Given the description of an element on the screen output the (x, y) to click on. 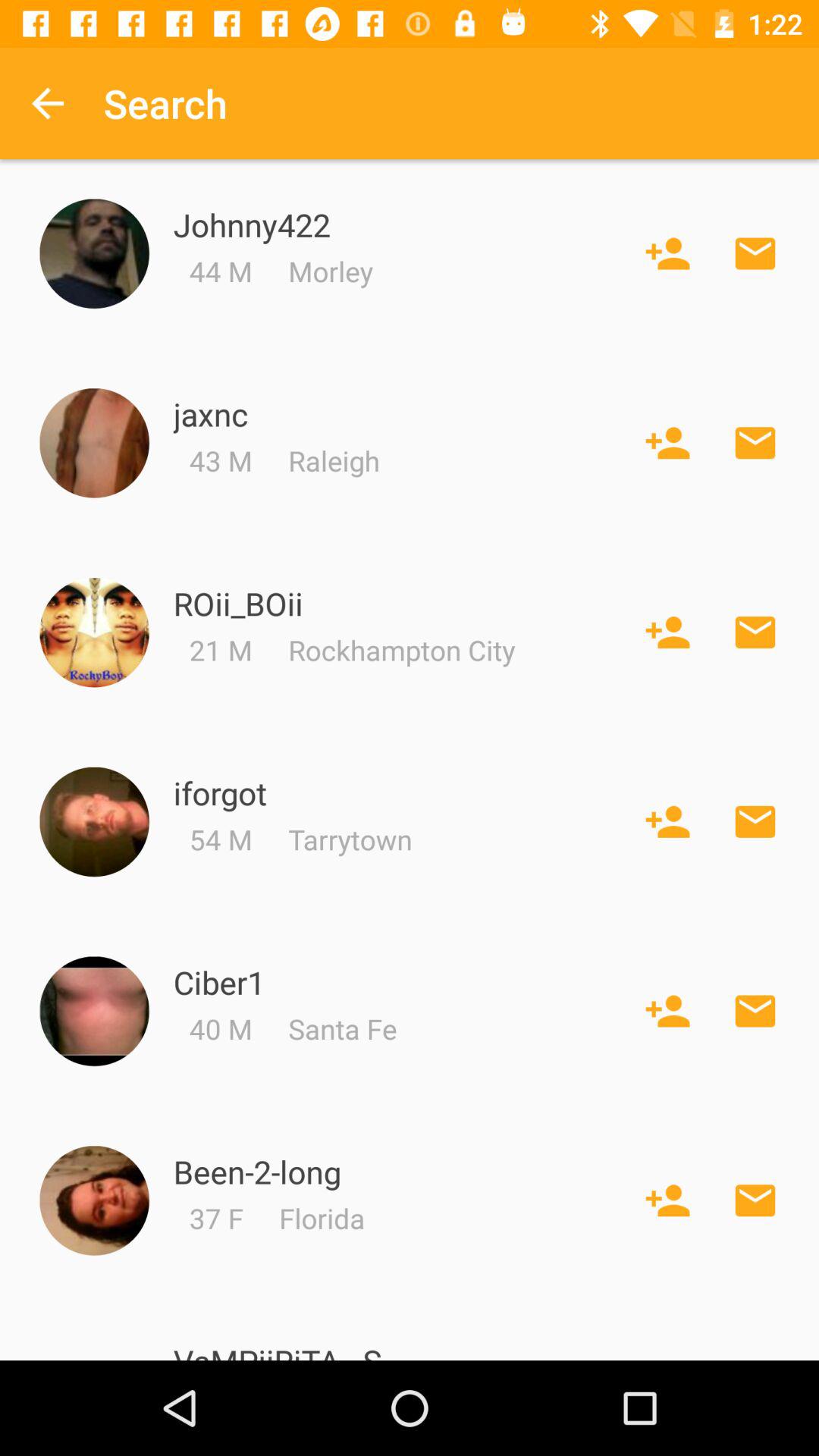
view member profile (94, 822)
